Given the description of an element on the screen output the (x, y) to click on. 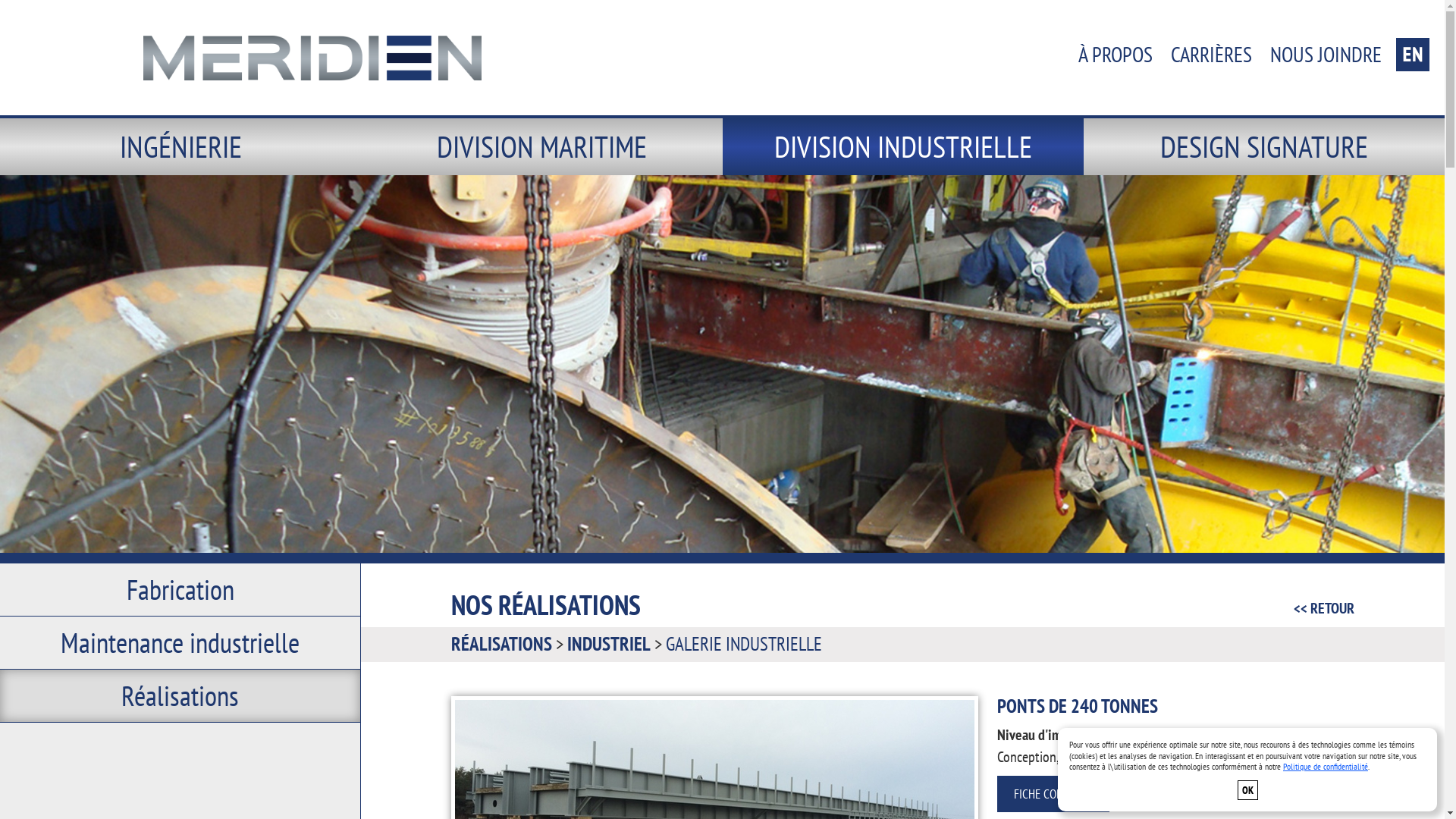
Fabrication Element type: text (180, 589)
INDUSTRIEL Element type: text (608, 643)
Maintenance industrielle Element type: text (180, 642)
DIVISION INDUSTRIELLE Element type: text (901, 146)
OK Element type: text (1247, 790)
DESIGN SIGNATURE Element type: text (1263, 146)
<< RETOUR Element type: text (1323, 604)
NOUS JOINDRE Element type: text (1325, 54)
DIVISION MARITIME Element type: text (540, 146)
